Given the description of an element on the screen output the (x, y) to click on. 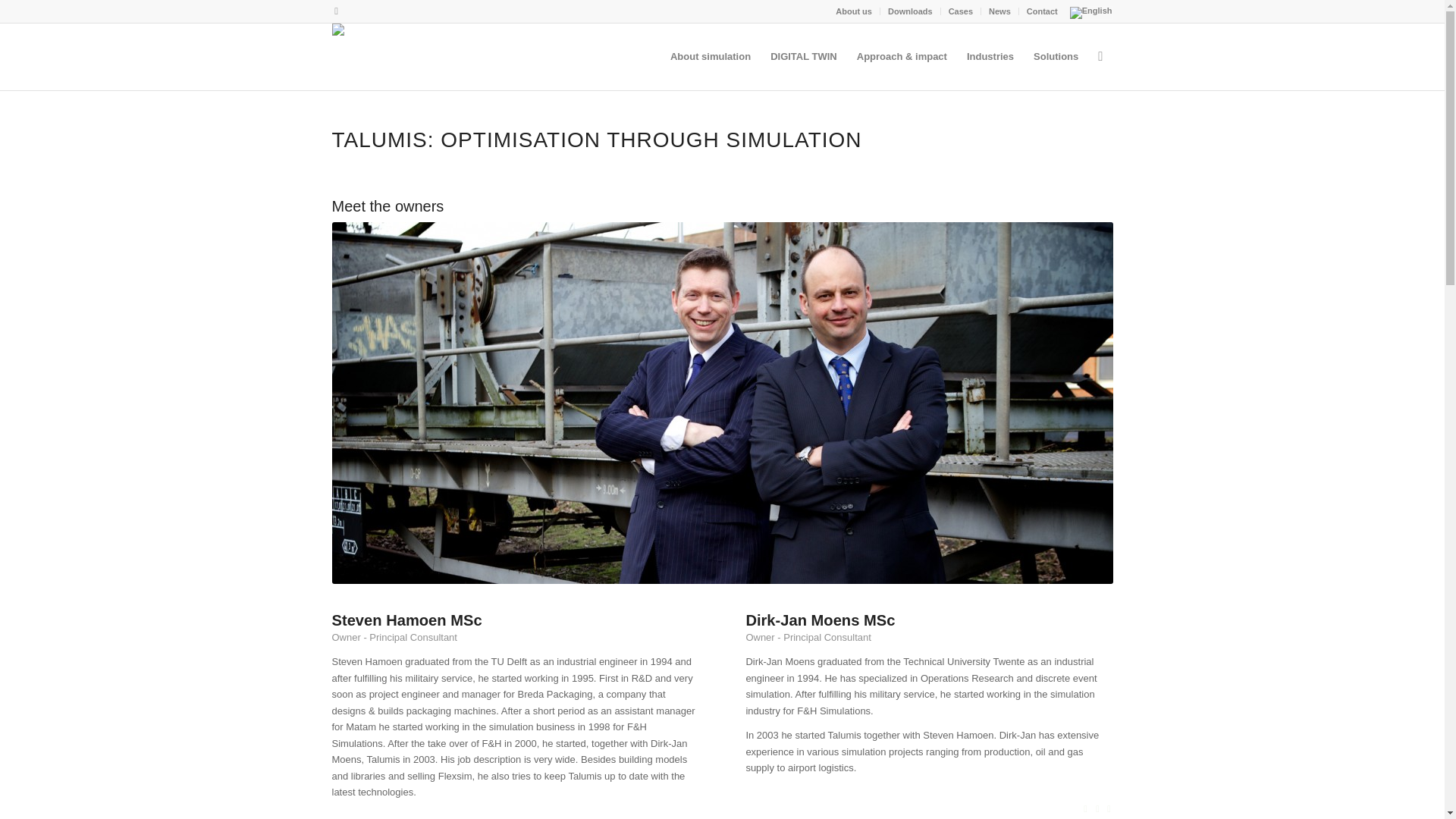
DIGITAL TWIN (803, 56)
About simulation (710, 56)
Industries (989, 56)
Contact (1042, 11)
Downloads (910, 11)
LinkedIn (335, 11)
talumis (354, 30)
Cases (960, 11)
News (999, 11)
About us (853, 11)
